Given the description of an element on the screen output the (x, y) to click on. 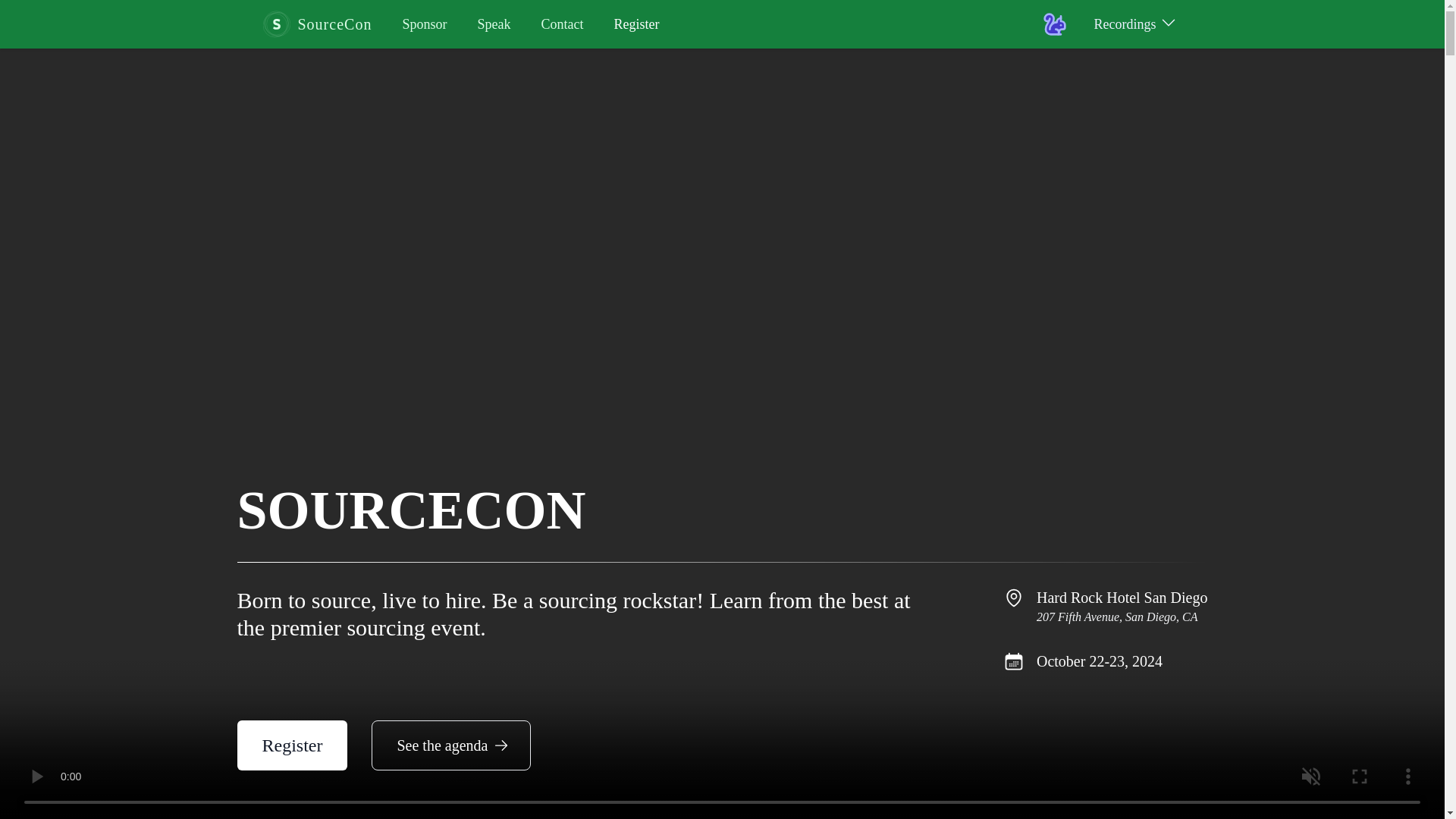
Recordings (1134, 24)
SourceCon (315, 24)
Sponsor (423, 24)
Speak (494, 24)
Contact (561, 24)
